Given the description of an element on the screen output the (x, y) to click on. 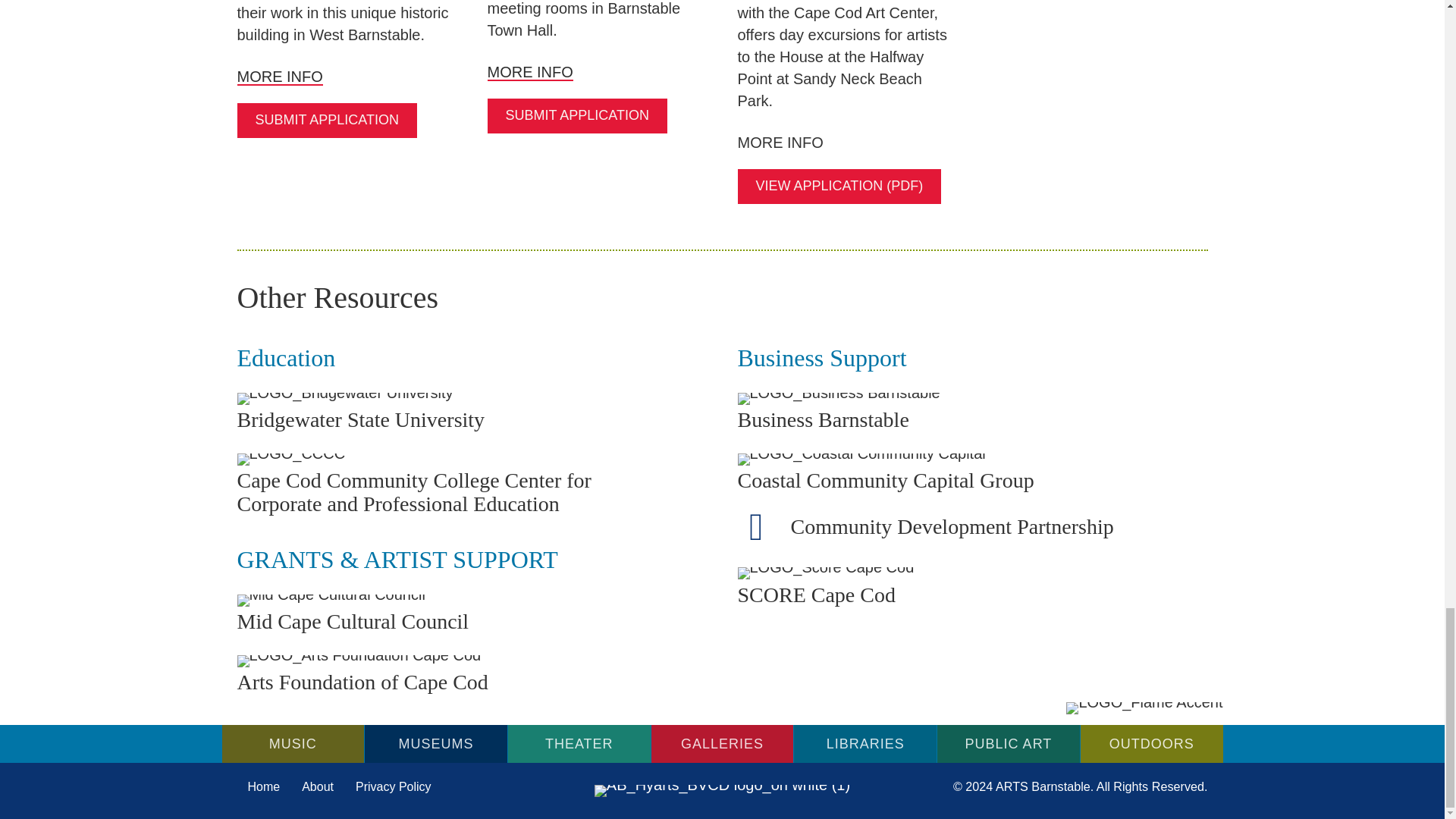
Click Here (325, 120)
Click Here (576, 115)
